Given the description of an element on the screen output the (x, y) to click on. 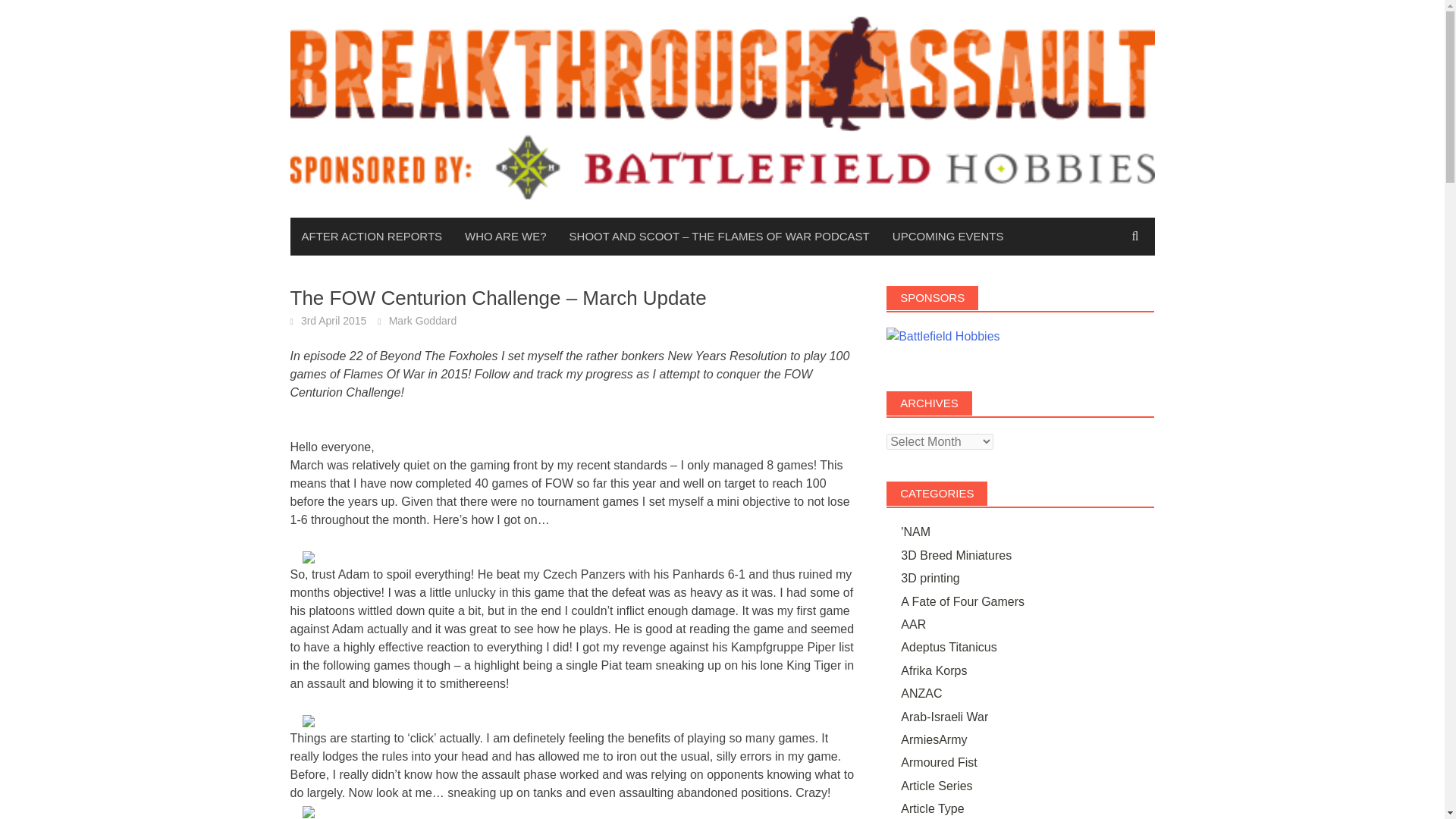
3D Breed Miniatures (956, 554)
3D printing (930, 577)
Armoured Fist (938, 762)
WHO ARE WE? (504, 236)
Article Series (936, 785)
Adeptus Titanicus (948, 646)
Arab-Israeli War (944, 716)
ANZAC (921, 693)
Article Type (932, 808)
Mark Goddard (422, 320)
